Given the description of an element on the screen output the (x, y) to click on. 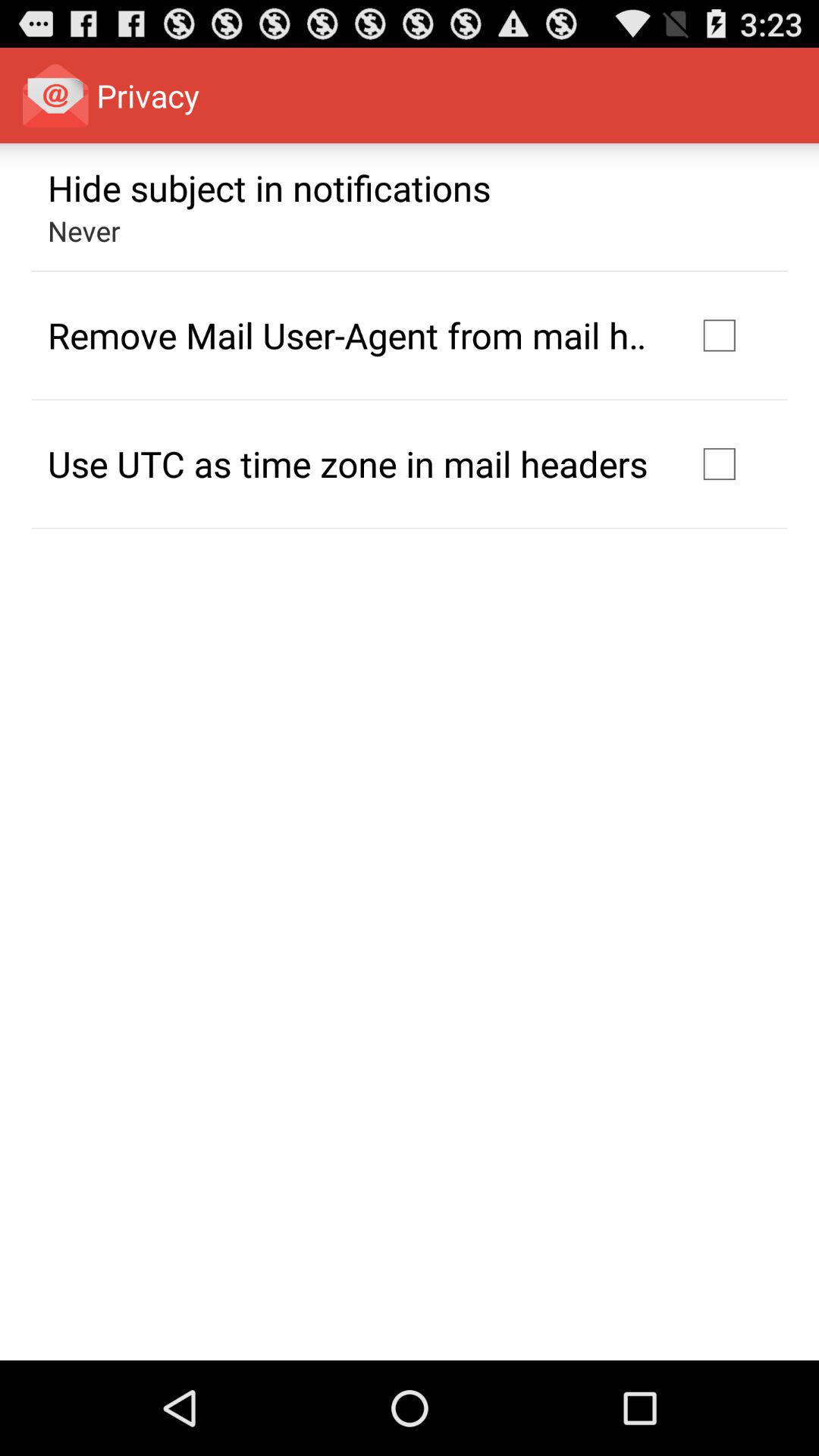
turn off the icon above the remove mail user item (83, 230)
